Given the description of an element on the screen output the (x, y) to click on. 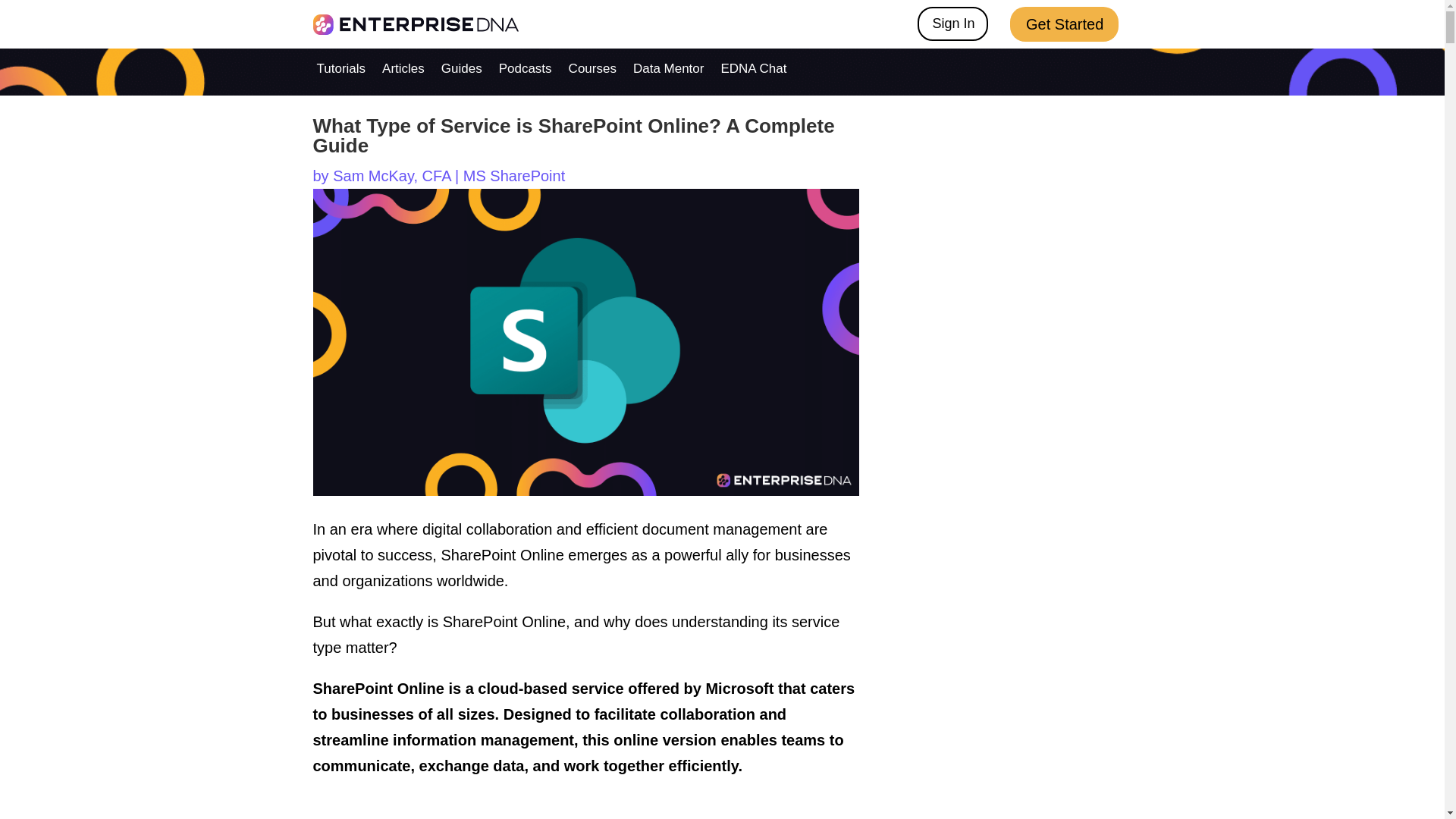
Posts by Sam McKay, CFA (391, 175)
Courses (592, 71)
EDNA Chat (753, 71)
Articles (403, 71)
MS SharePoint (514, 175)
Tutorials (341, 71)
Get Started (1064, 23)
Sign In (952, 23)
Podcasts (525, 71)
Data Mentor (668, 71)
Sam McKay, CFA (391, 175)
Guides (461, 71)
